Given the description of an element on the screen output the (x, y) to click on. 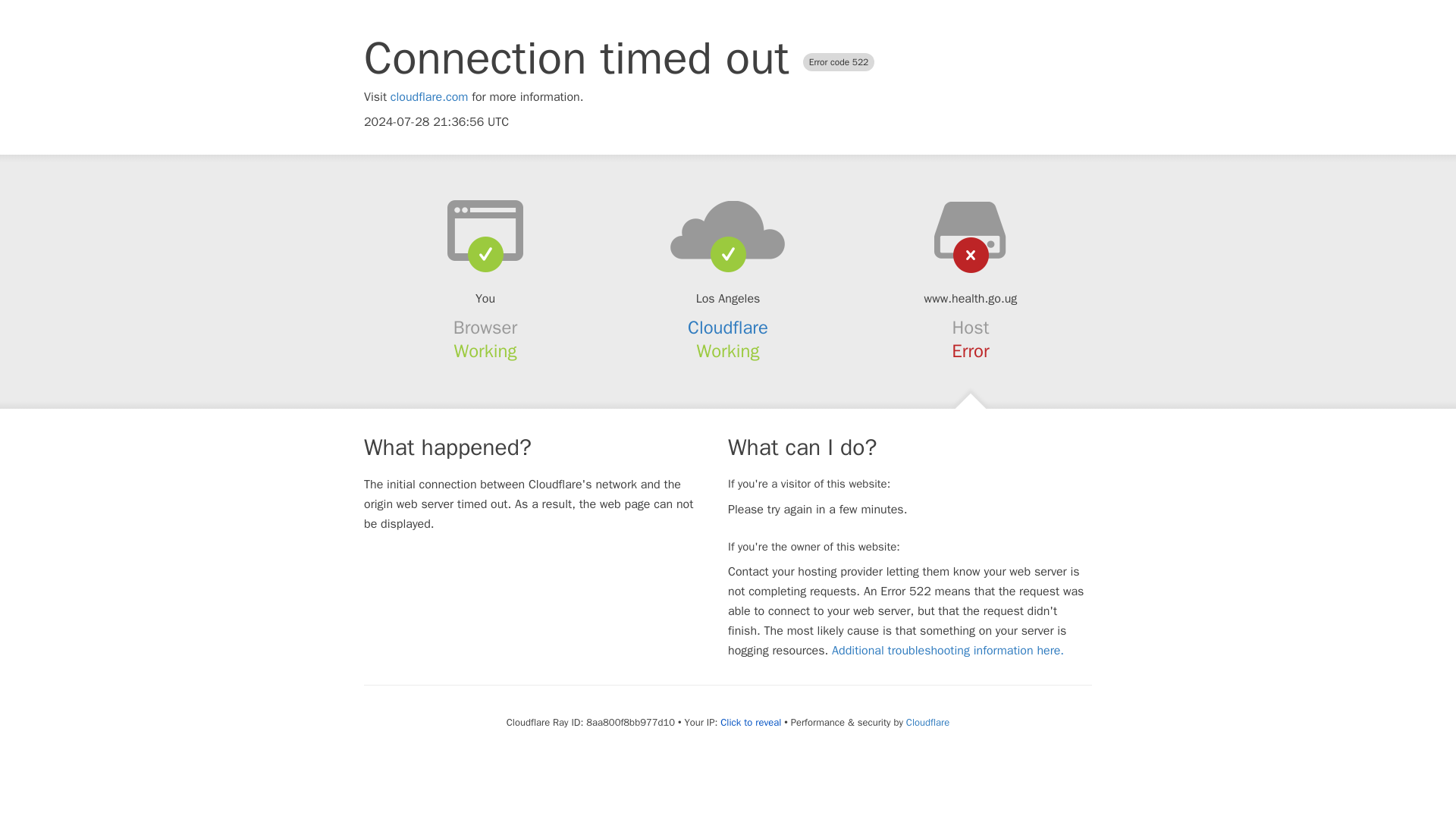
Cloudflare (927, 721)
Click to reveal (750, 722)
cloudflare.com (429, 96)
Cloudflare (727, 327)
Additional troubleshooting information here. (947, 650)
